Given the description of an element on the screen output the (x, y) to click on. 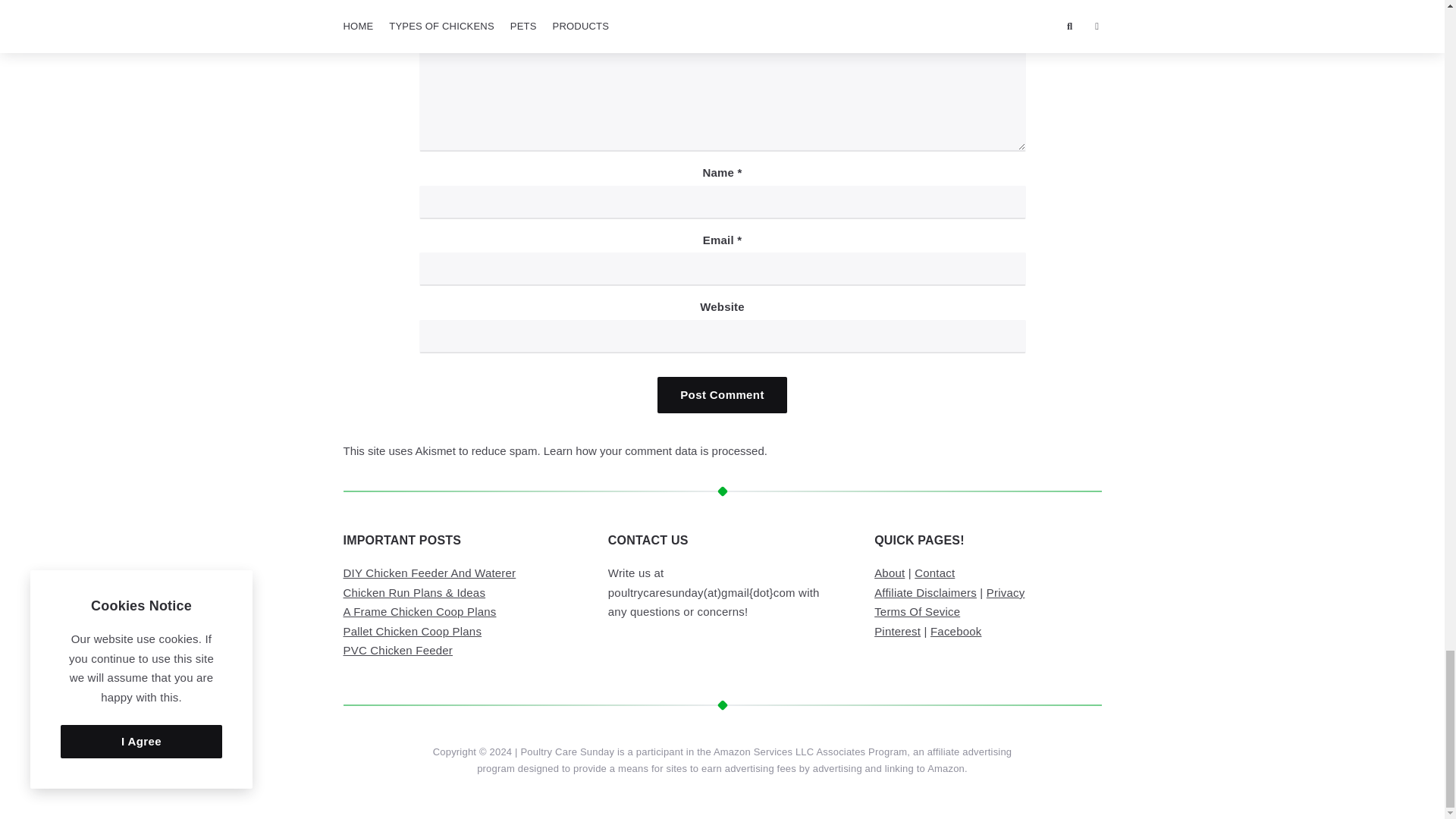
Post comment (722, 394)
